Given the description of an element on the screen output the (x, y) to click on. 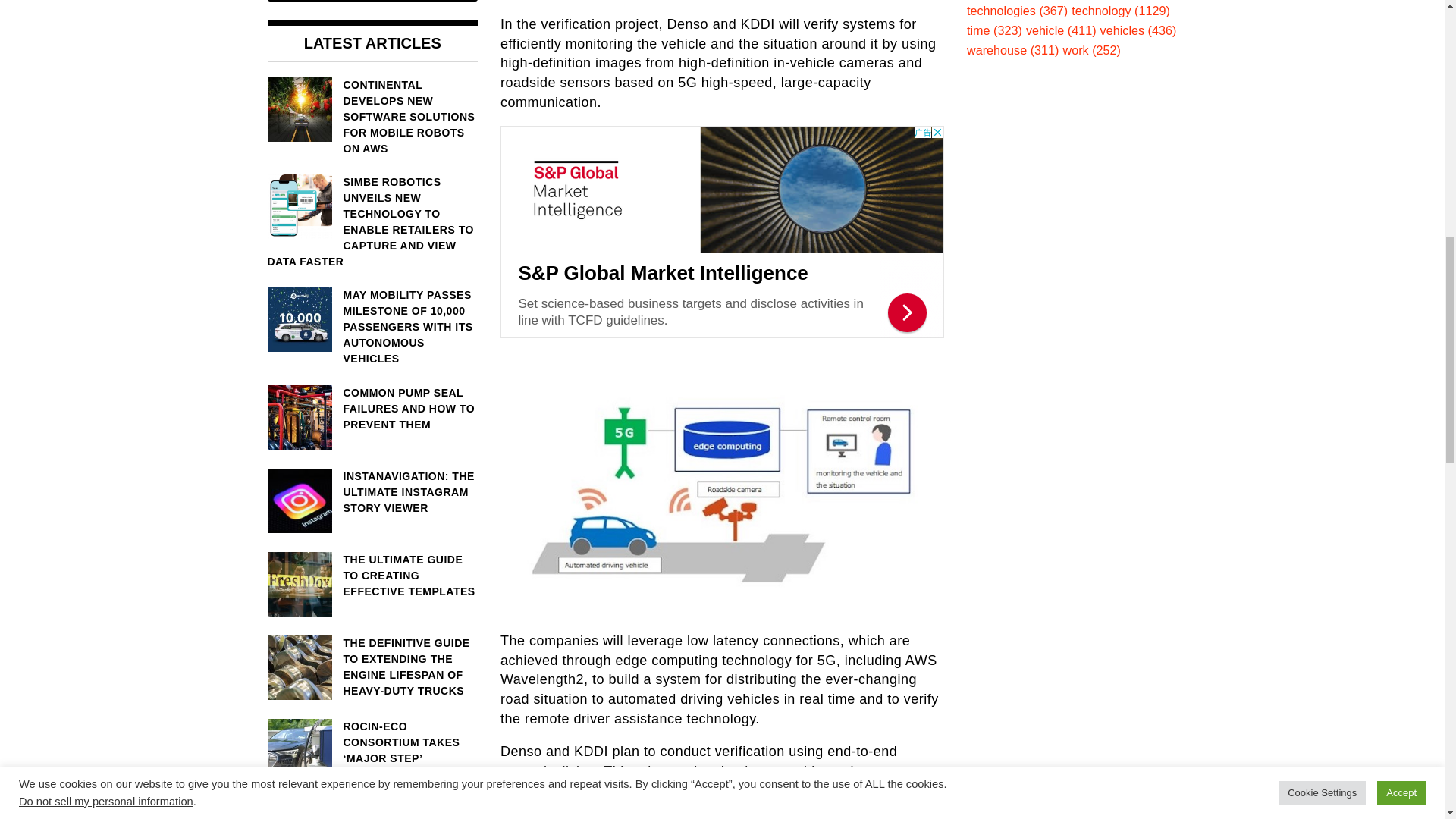
Advertisement (721, 232)
